Given the description of an element on the screen output the (x, y) to click on. 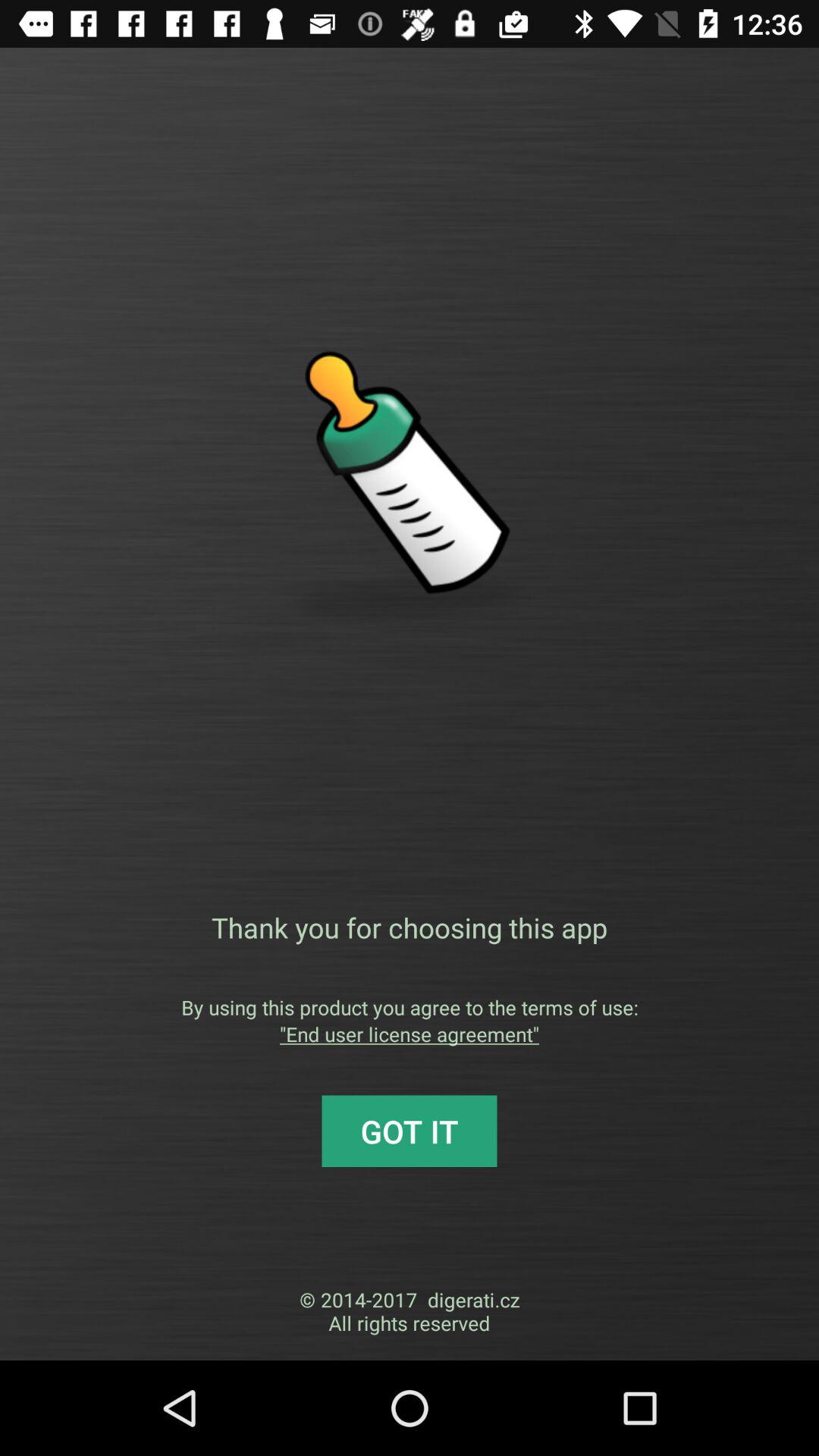
choose icon below by using this item (409, 1033)
